Given the description of an element on the screen output the (x, y) to click on. 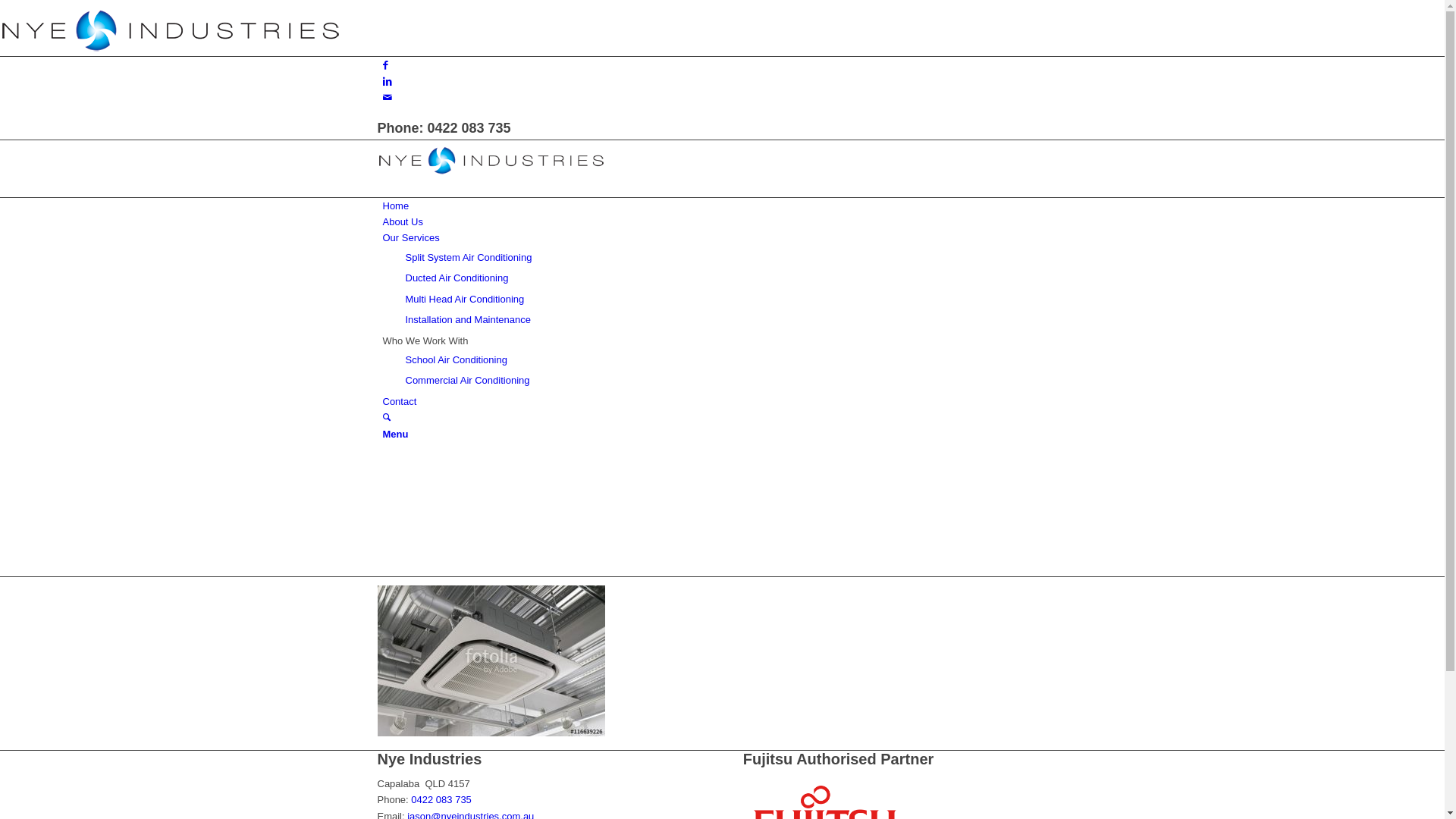
Split System Air Conditioning Element type: text (467, 257)
Facebook Element type: hover (384, 64)
Menu Element type: text (394, 433)
Loading Element type: hover (170, 25)
Installation and Maintenance Element type: text (467, 319)
Our Services Element type: text (410, 237)
Home Element type: text (395, 205)
Multi Head Air Conditioning Element type: text (464, 298)
Mail Element type: hover (386, 97)
Ducted Air Conditioning Element type: text (456, 277)
Linkedin Element type: hover (386, 81)
0422 083 735 Element type: text (469, 127)
Contact Element type: text (399, 401)
About Us Element type: text (402, 221)
Who We Work With Element type: text (424, 340)
0422 083 735 Element type: text (441, 799)
School Air Conditioning Element type: text (455, 359)
Commercial Air Conditioning Element type: text (466, 379)
